Given the description of an element on the screen output the (x, y) to click on. 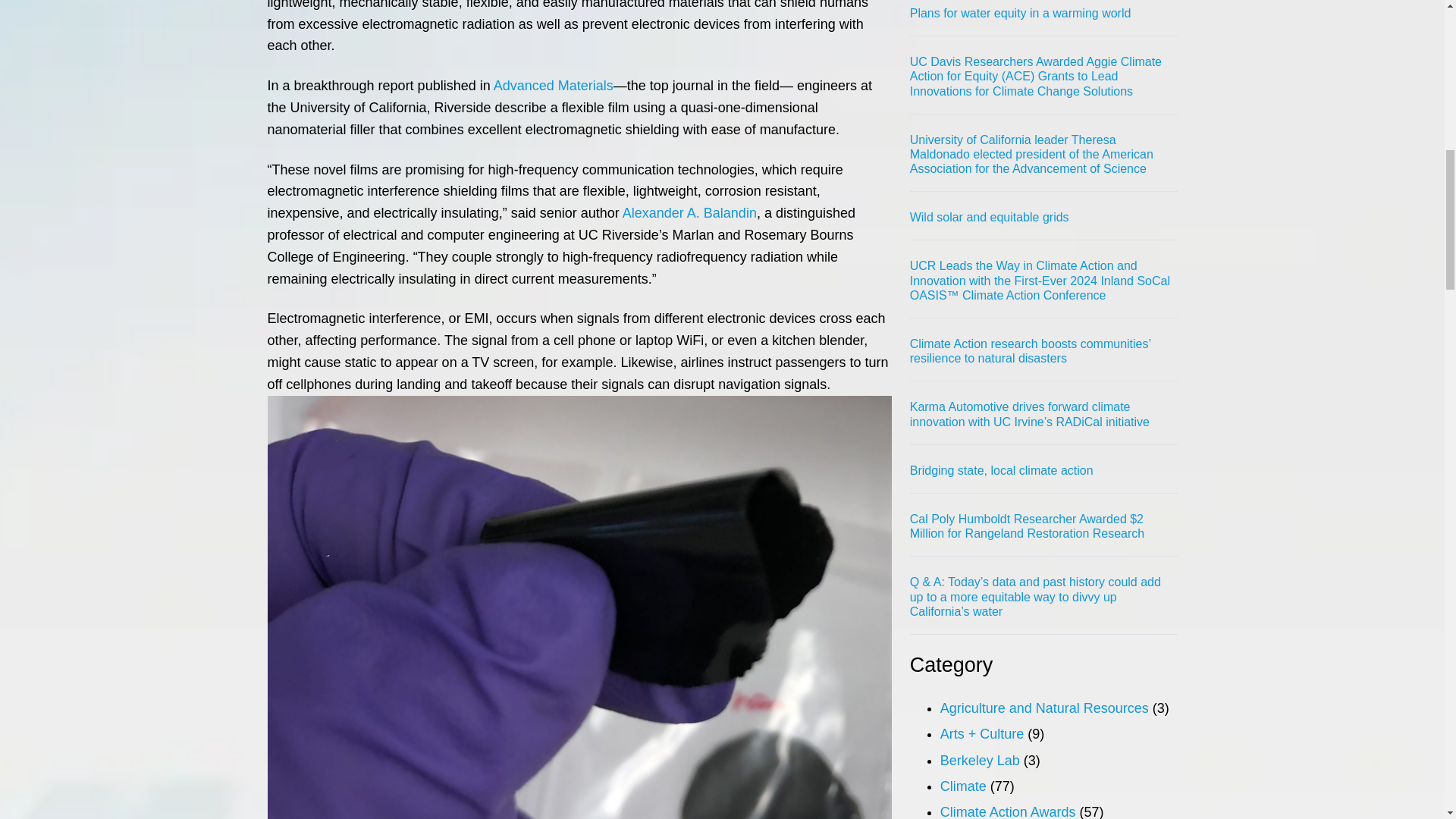
Alexander A. Balandin (690, 212)
Plans for water equity in a warming world (1020, 12)
Advanced Materials (552, 85)
